Given the description of an element on the screen output the (x, y) to click on. 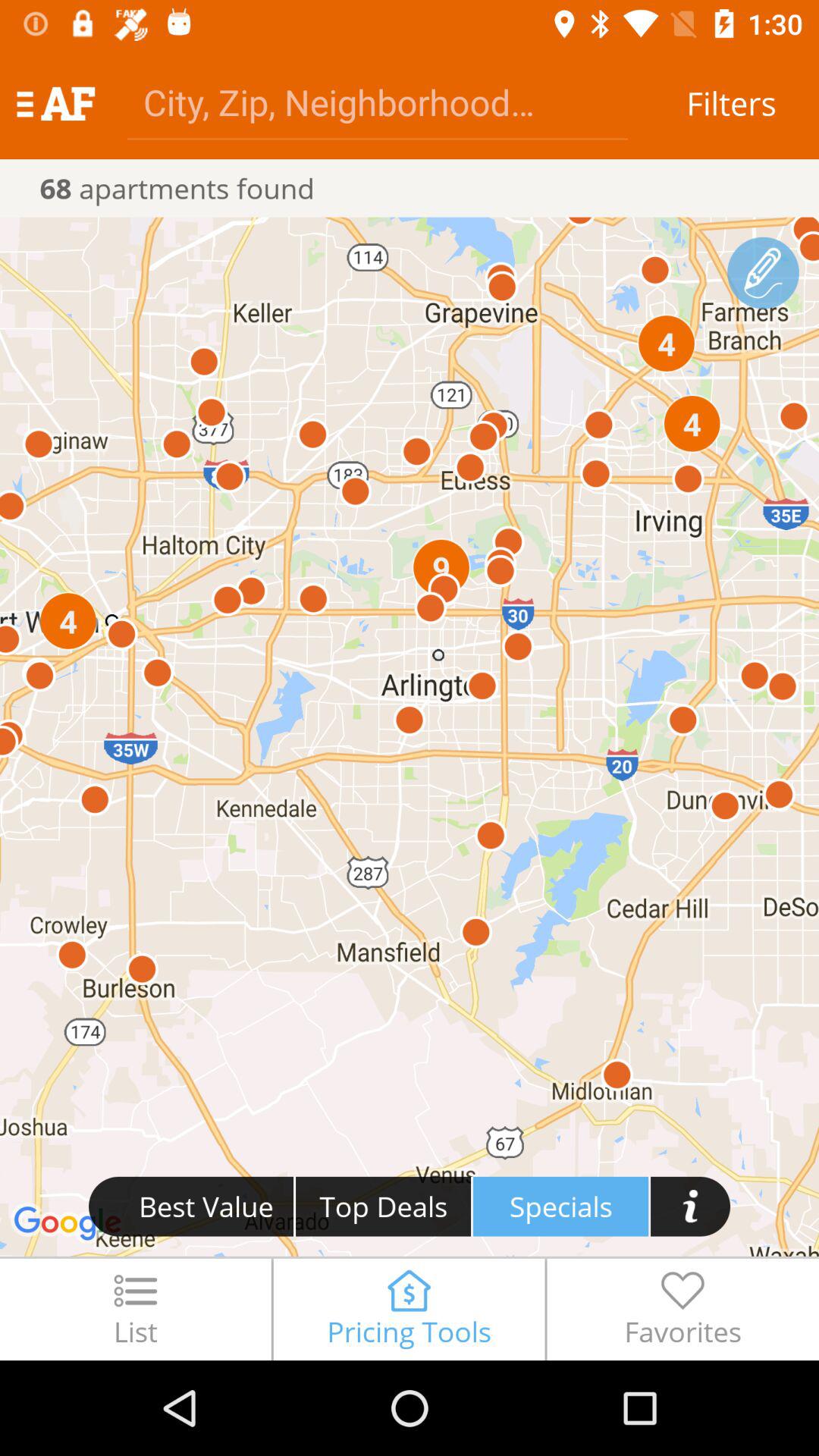
tap specials icon (560, 1206)
